Given the description of an element on the screen output the (x, y) to click on. 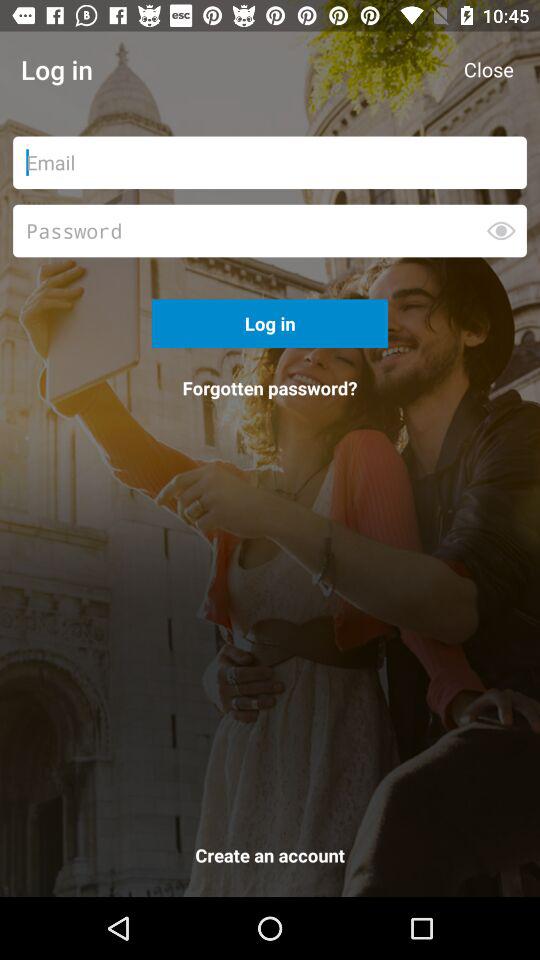
launch forgotten password? icon (269, 387)
